Given the description of an element on the screen output the (x, y) to click on. 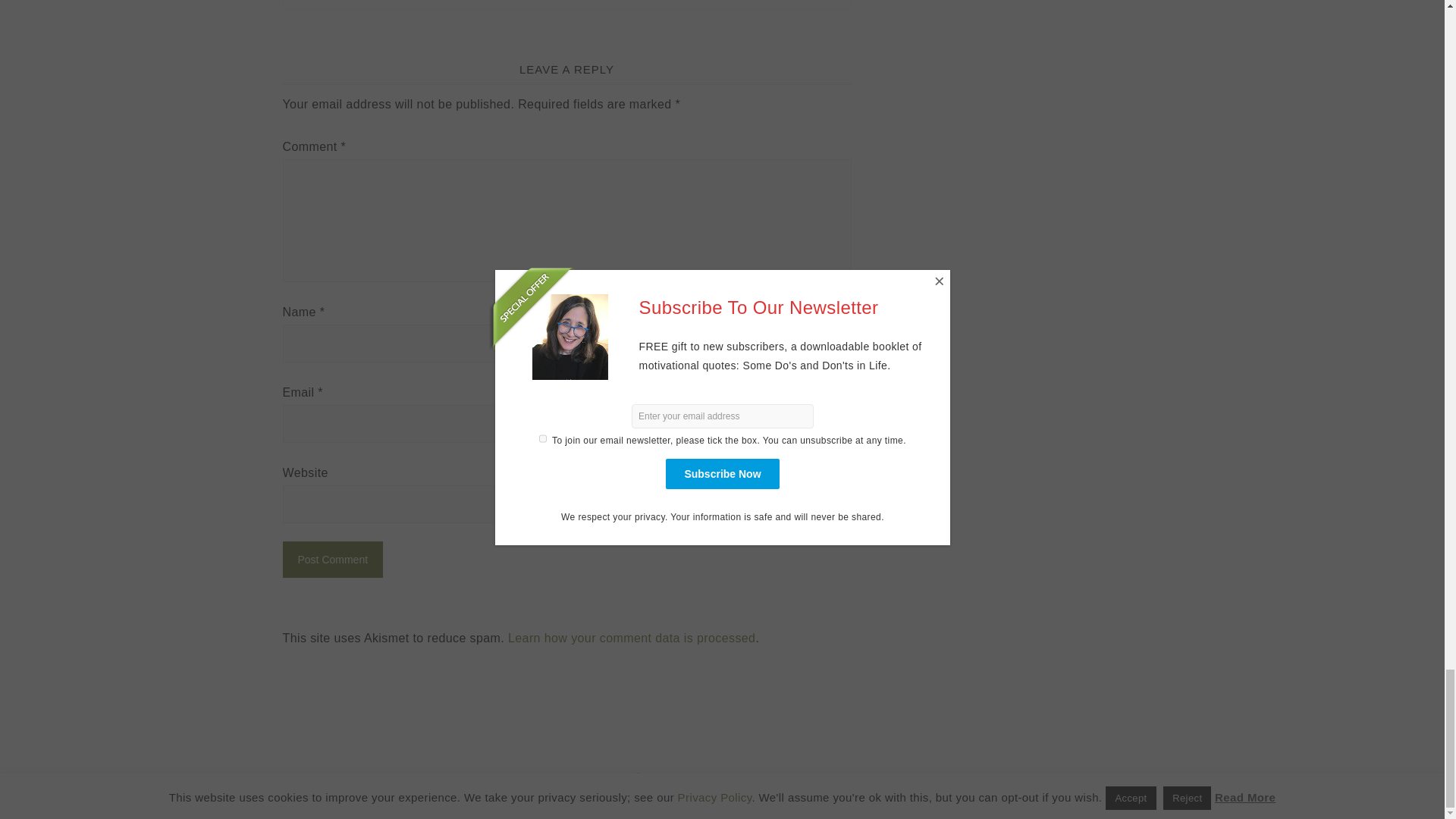
Post Comment (332, 558)
Post Comment (332, 558)
